Given the description of an element on the screen output the (x, y) to click on. 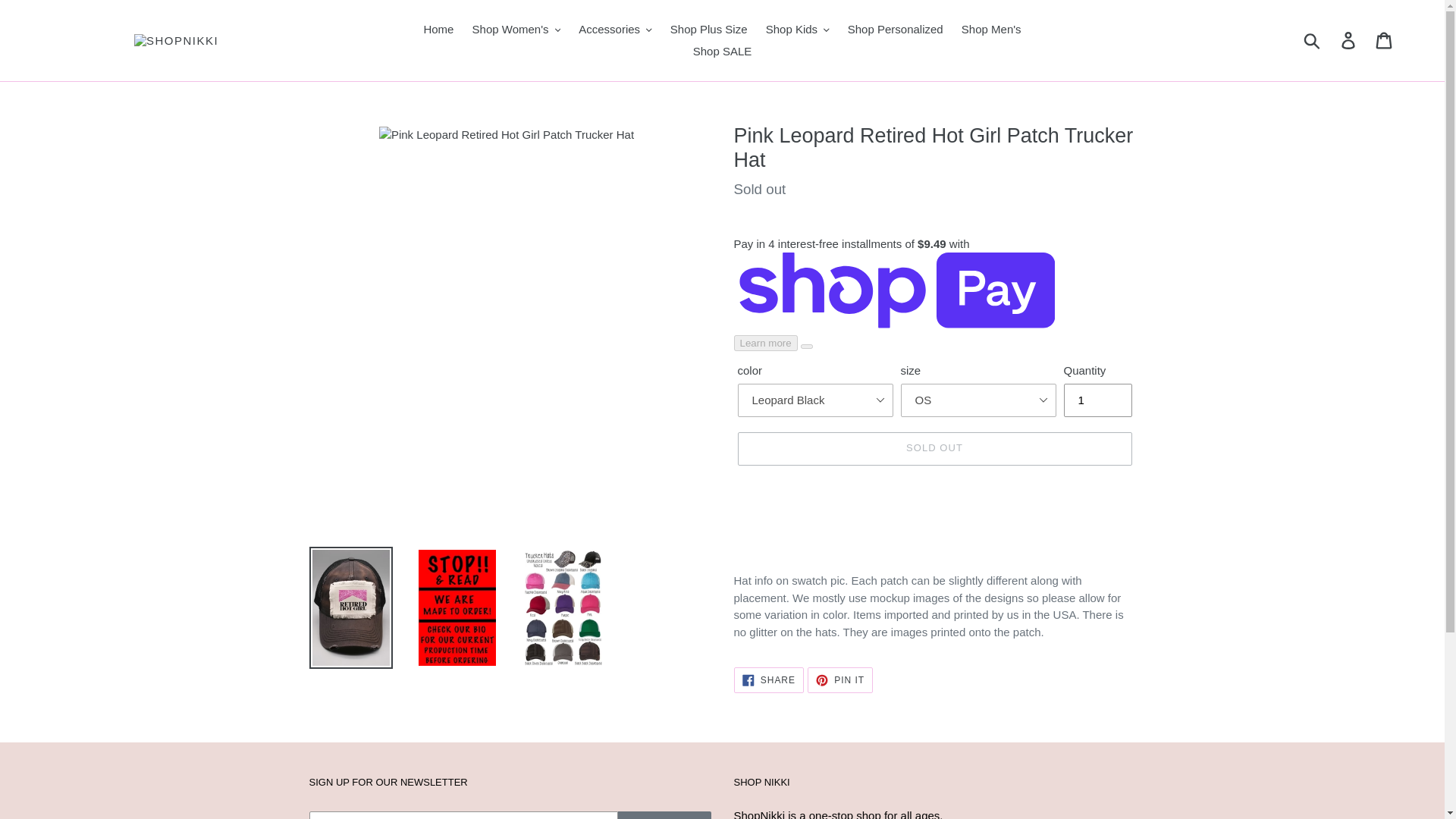
Shop Men's (991, 29)
Submit (1313, 40)
Cart (1385, 40)
Log in (1349, 40)
Shop SALE (722, 51)
1 (1096, 400)
Shop Plus Size (708, 29)
Shop Personalized (895, 29)
Home (437, 29)
